Given the description of an element on the screen output the (x, y) to click on. 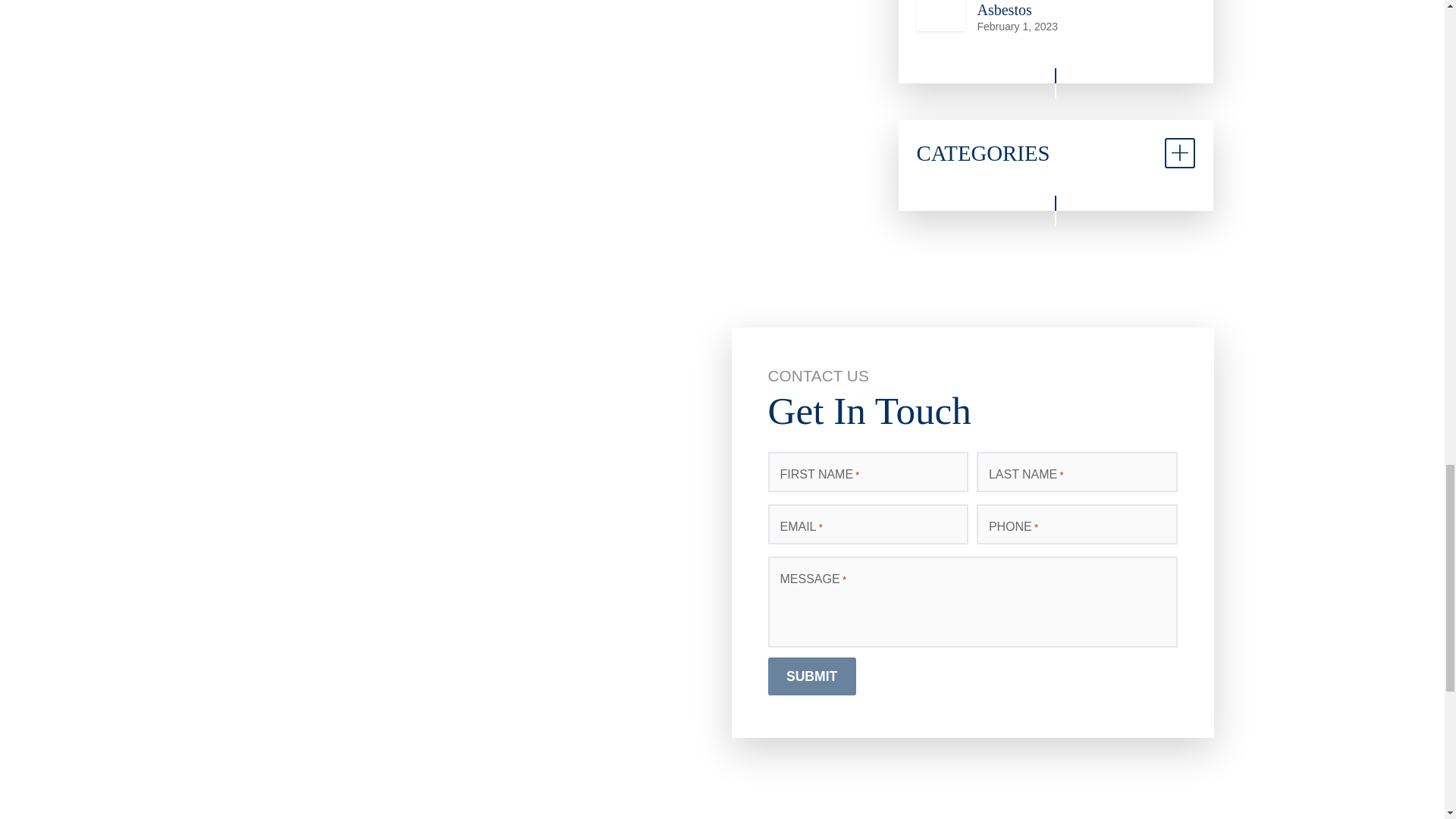
Submit (811, 676)
